Given the description of an element on the screen output the (x, y) to click on. 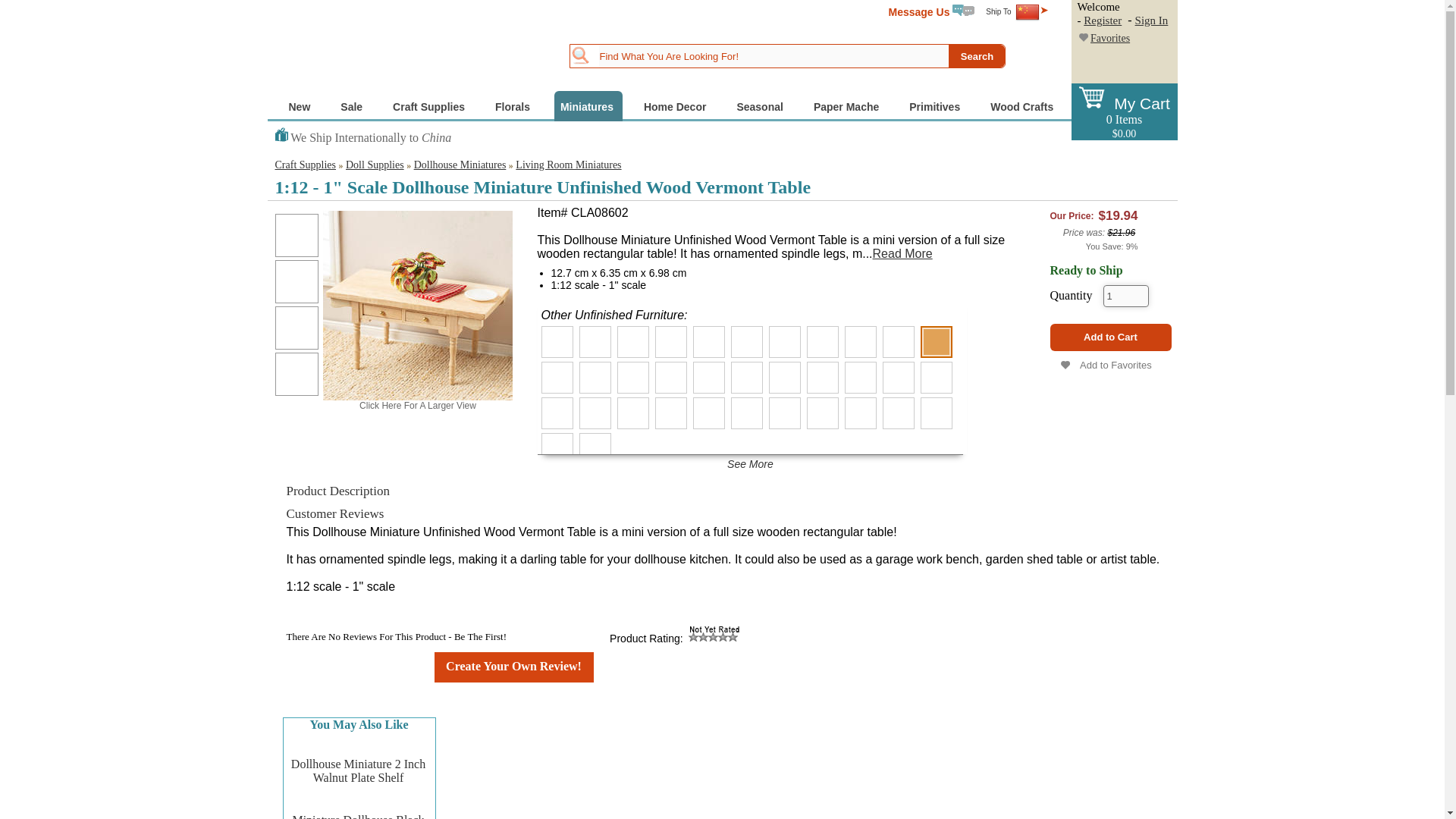
Go to the home page (362, 48)
Search (976, 56)
Paper Mache (848, 105)
Register (1102, 20)
Home Decor (675, 105)
1 (1125, 296)
Read More (902, 253)
Add to Cart (1109, 336)
Miniatures (588, 105)
